Given the description of an element on the screen output the (x, y) to click on. 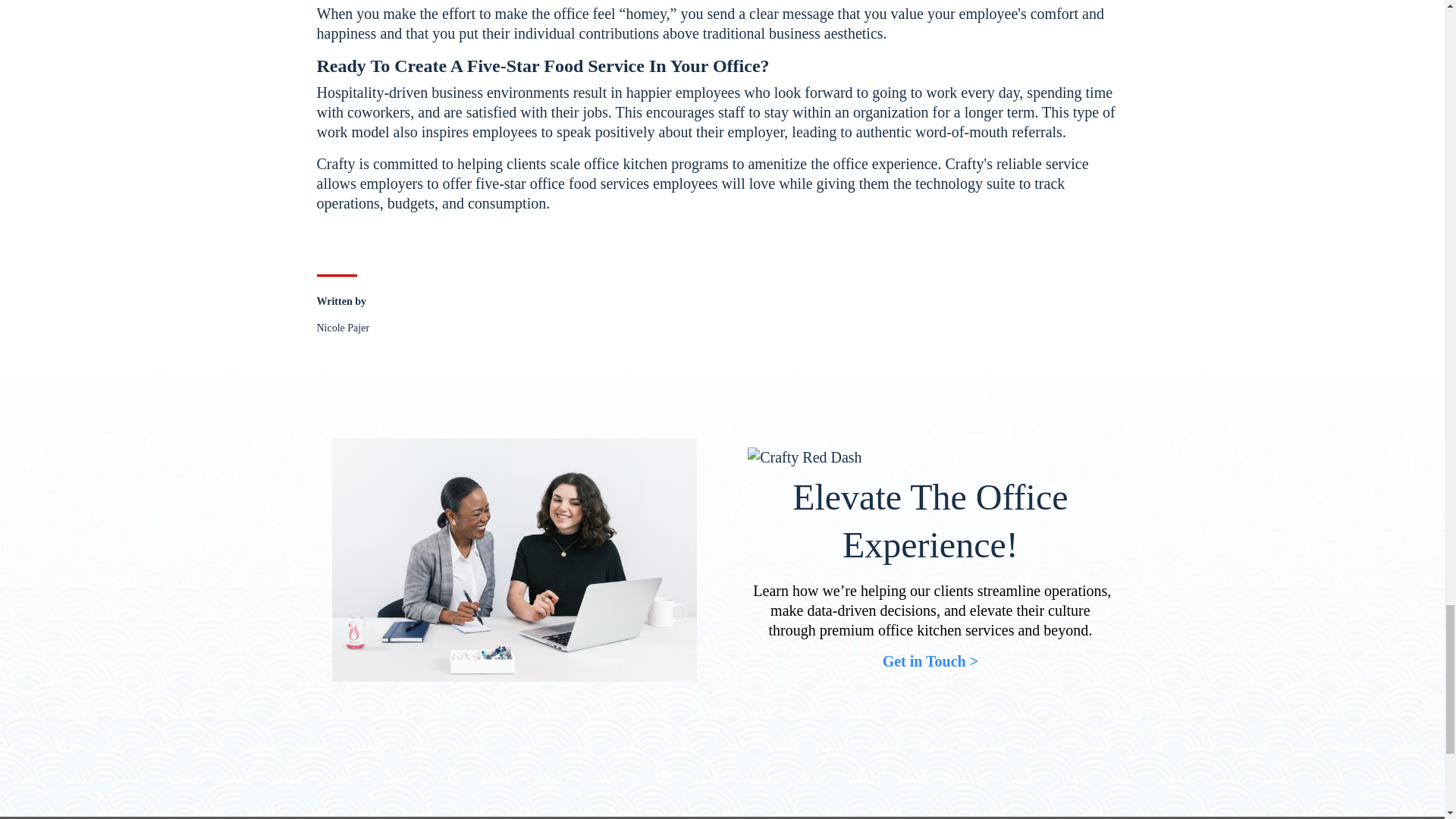
Crafty Red Dash (804, 456)
the office experience strategies for 2023 (514, 559)
